Given the description of an element on the screen output the (x, y) to click on. 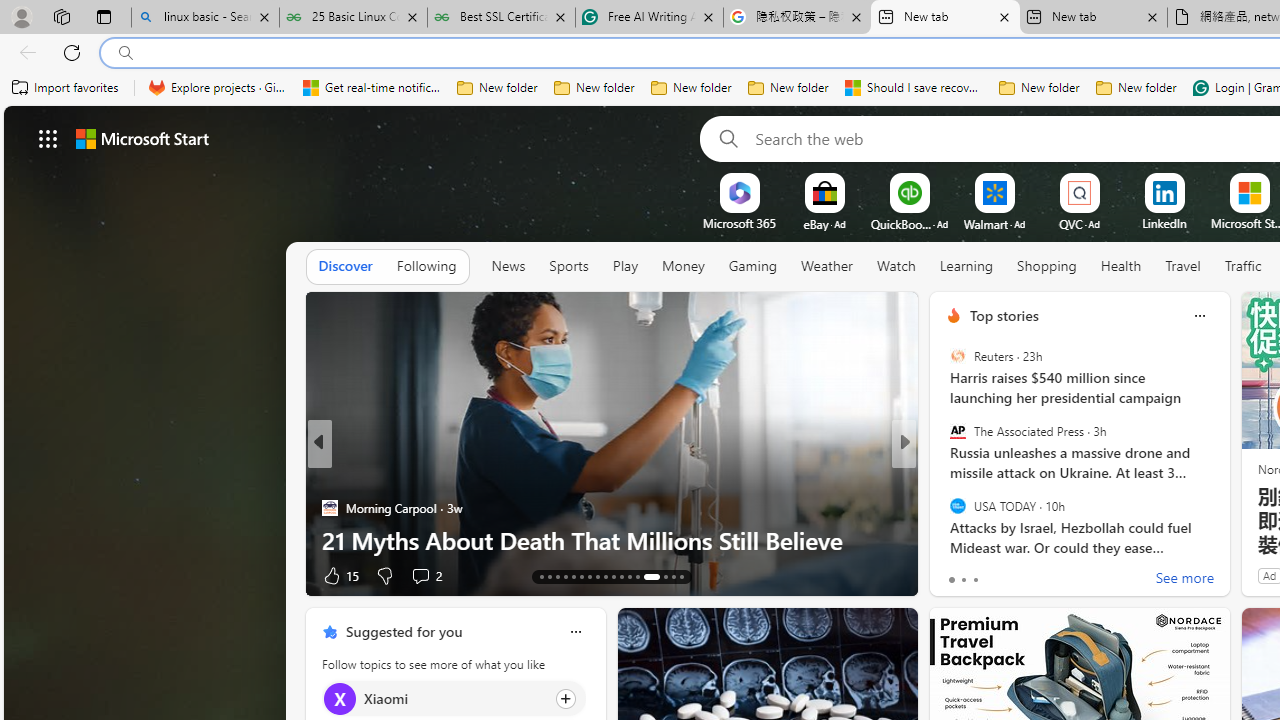
Play (625, 267)
tab-1 (963, 579)
LinkedIn (1163, 223)
New folder (1136, 88)
Reuters (957, 356)
App launcher (47, 138)
View comments 3 Comment (1048, 574)
tab-0 (950, 579)
Learning (966, 267)
Suggested for you (404, 631)
AutomationID: tab-26 (645, 576)
Money (682, 265)
Microsoft start (142, 138)
